Given the description of an element on the screen output the (x, y) to click on. 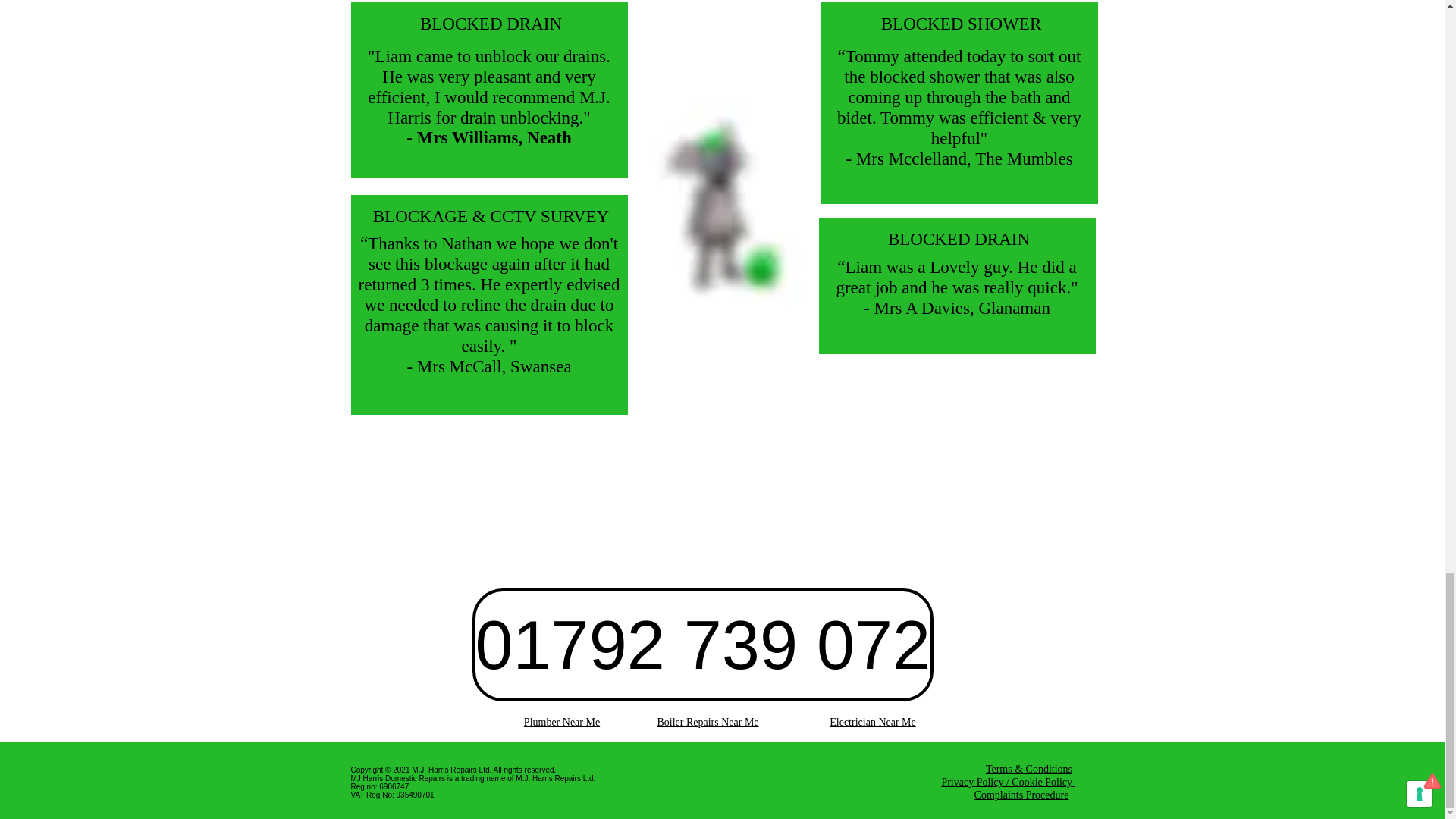
01792 739 072 (702, 644)
Electrician Near Me (872, 721)
Boiler Repairs Near Me (707, 721)
Plumber Near Me (561, 721)
Complaints Procedure (1021, 794)
